Given the description of an element on the screen output the (x, y) to click on. 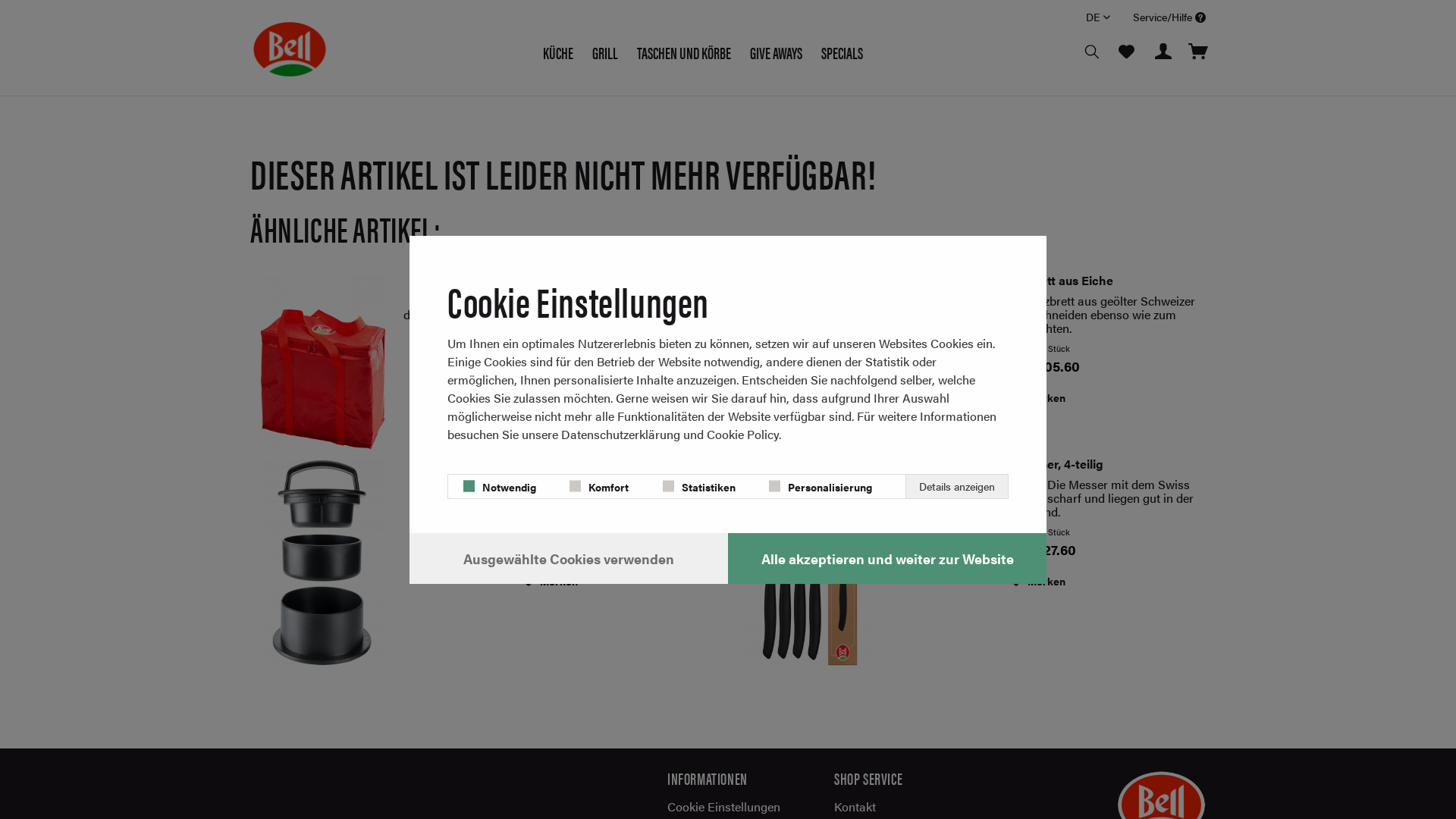
SPECIALS Element type: text (841, 51)
Steakmesser, 4-teilig Element type: hover (809, 562)
Merkzettel Element type: hover (1125, 51)
Merken Element type: text (1037, 397)
Schneidebrett aus Eiche Element type: hover (809, 379)
Details anzeigen Element type: text (956, 486)
Burgerpresse Element type: text (556, 463)
Bell-Shop - zur Startseite wechseln Element type: hover (289, 48)
Alle akzeptieren und weiter zur Website Element type: text (887, 557)
Steakmesser, 4-teilig Element type: text (1043, 463)
Merken Element type: text (1037, 580)
Schneidebrett aus Eiche Element type: text (1043, 280)
Burgerpresse Element type: hover (322, 562)
Mein Konto Element type: hover (1163, 51)
Kontakt Element type: text (894, 806)
GIVE AWAYS Element type: text (775, 51)
Merken Element type: text (550, 397)
Cookie Einstellungen Element type: text (727, 806)
Merken Element type: text (550, 580)
GRILL Element type: text (604, 51)
Warenkorb Element type: hover (1198, 51)
